Given the description of an element on the screen output the (x, y) to click on. 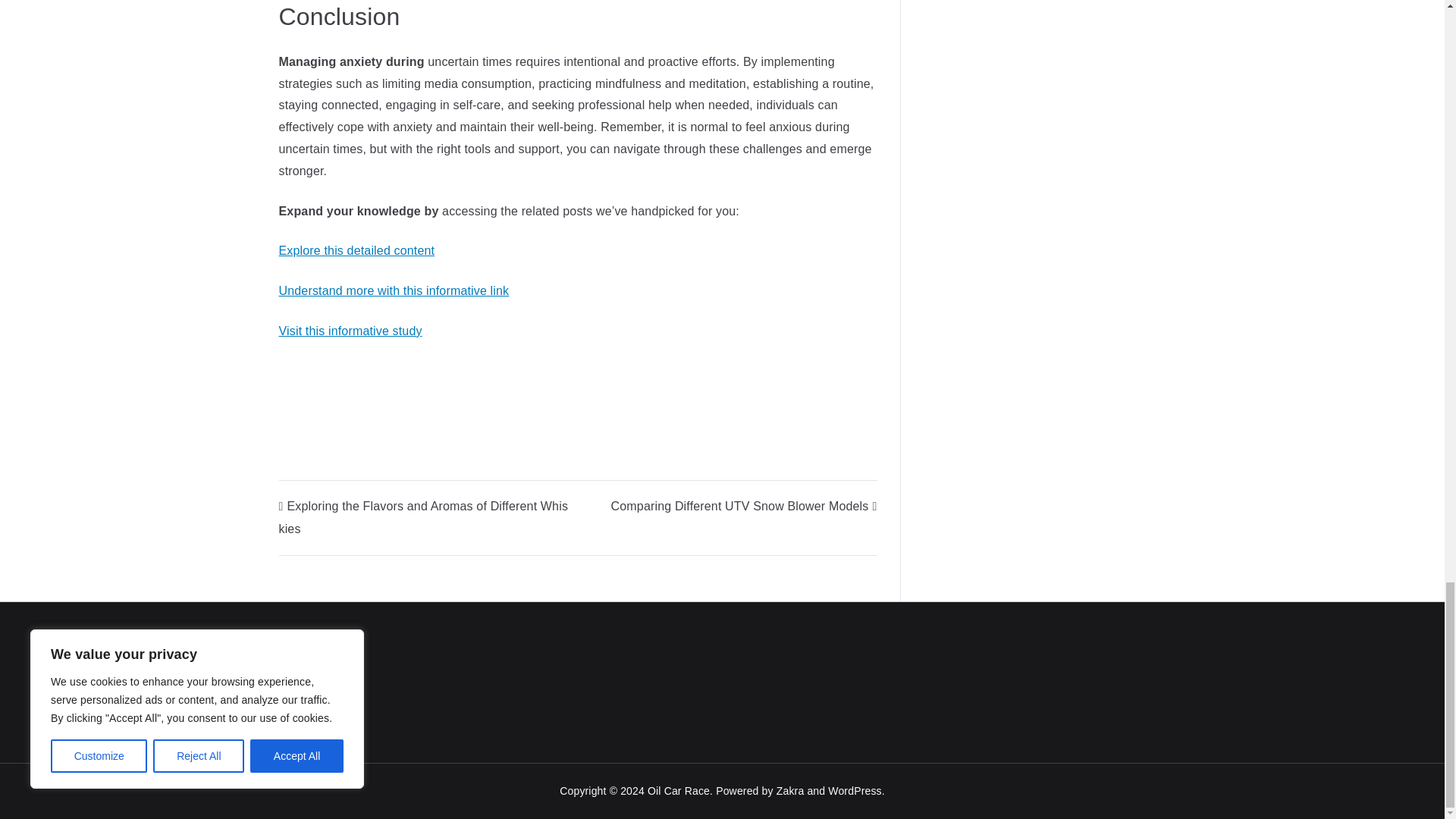
Explore this detailed content (357, 250)
Understand more with this informative link (394, 290)
Oil Car Race (678, 790)
Comparing Different UTV Snow Blower Models (744, 505)
Zakra (790, 790)
WordPress (854, 790)
Exploring the Flavors and Aromas of Different Whiskies (424, 517)
Visit this informative study (350, 330)
